Given the description of an element on the screen output the (x, y) to click on. 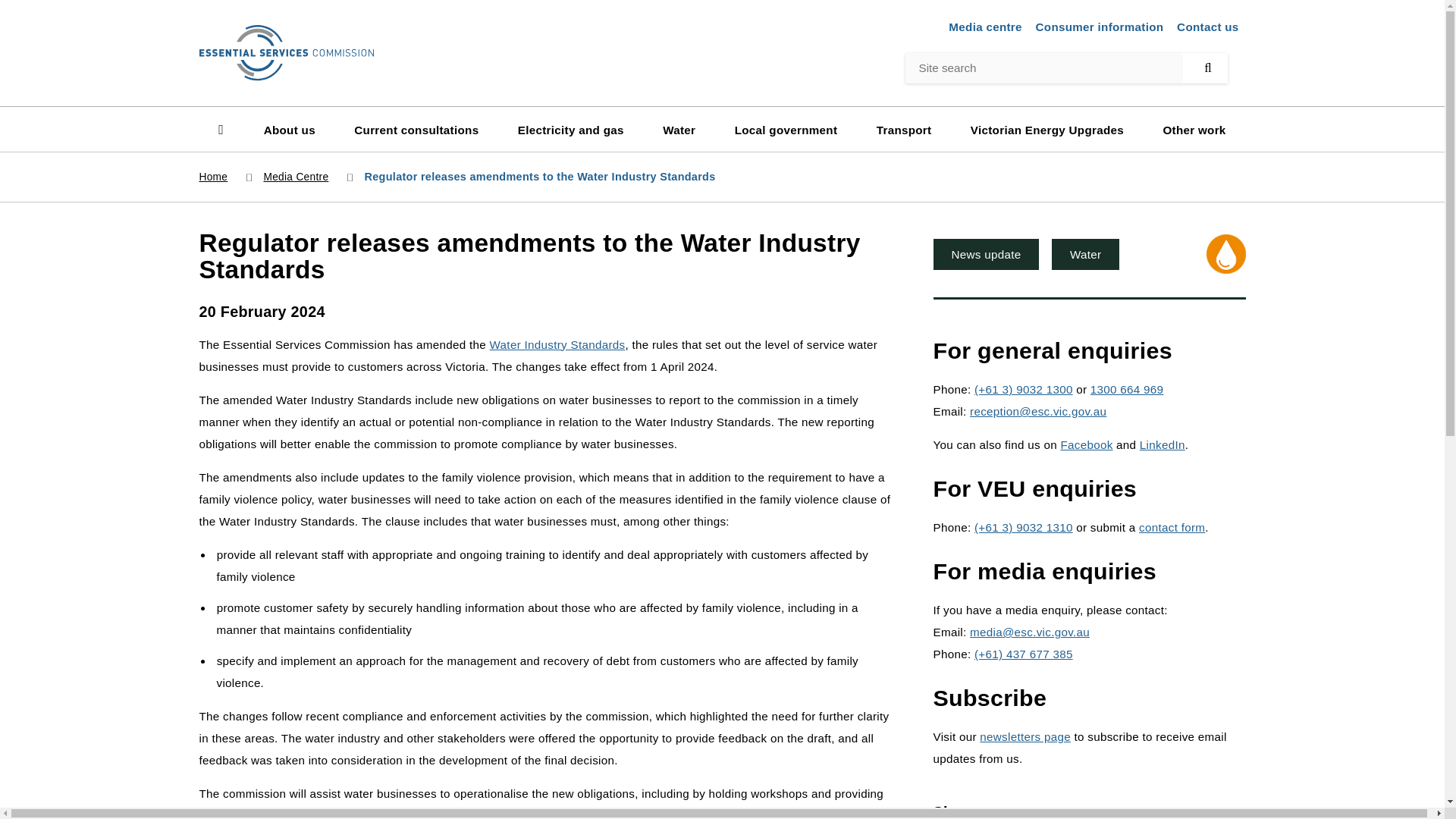
Current consultations (416, 128)
Contact the VEU program team (1171, 526)
Water industry standards (557, 344)
Transport (903, 128)
Local government (786, 128)
Our newsletters (1024, 736)
Home (285, 52)
Submit (56, 17)
Electricity and gas (571, 128)
